Given the description of an element on the screen output the (x, y) to click on. 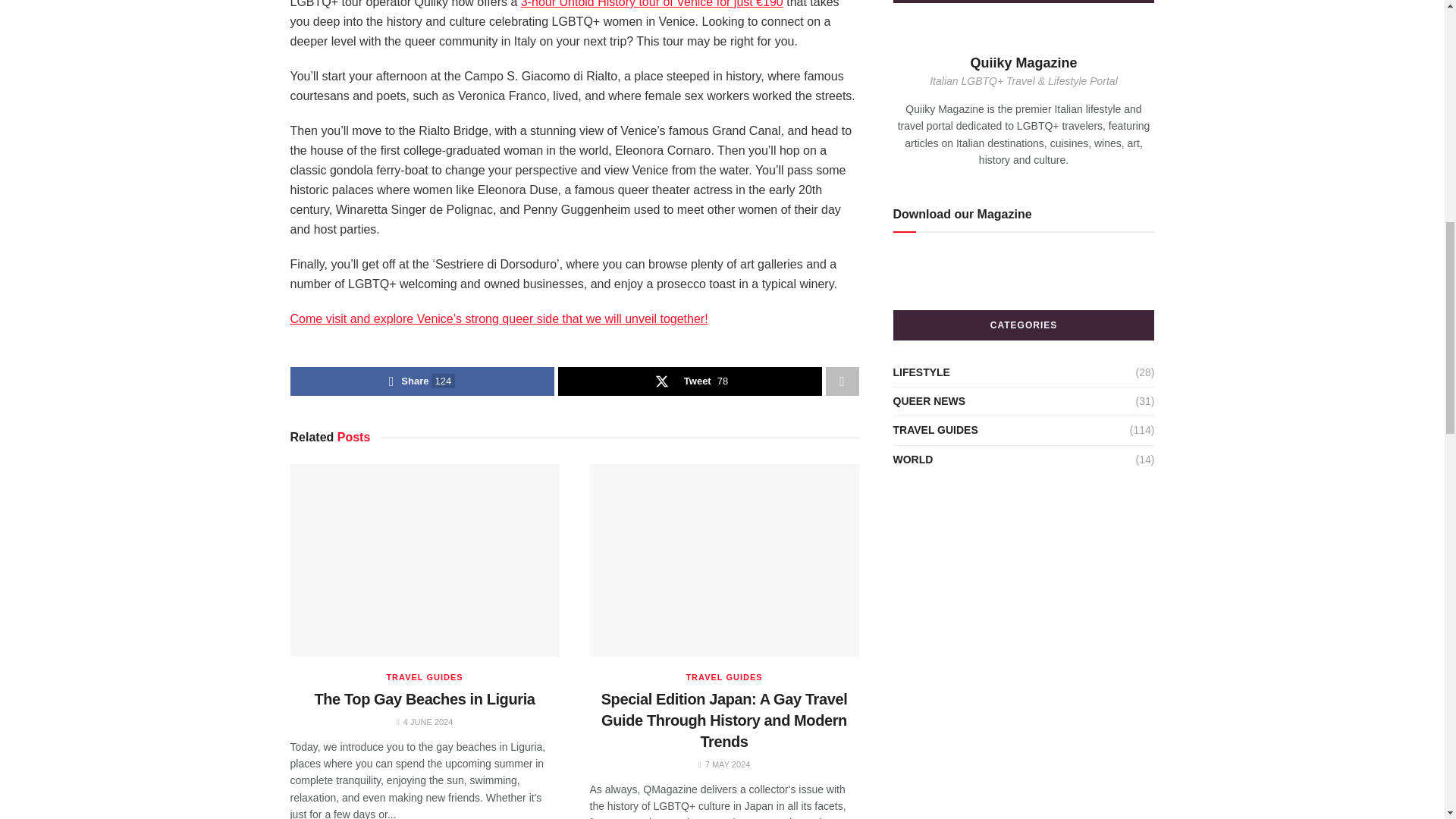
Share124 (421, 380)
Tweet78 (689, 380)
